Given the description of an element on the screen output the (x, y) to click on. 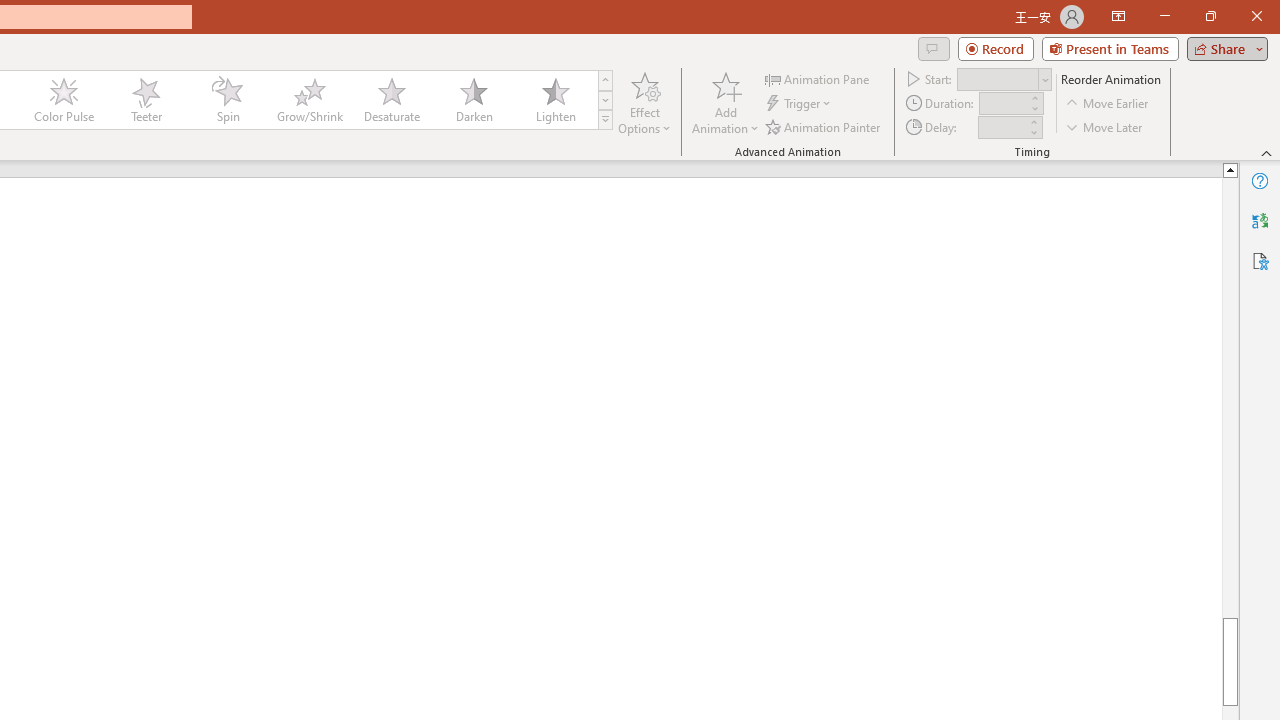
Animation Painter (824, 126)
Move Earlier (1107, 103)
Animation Duration (1003, 103)
Spin (227, 100)
Desaturate (391, 100)
Less (1033, 132)
Lighten (555, 100)
Grow/Shrink (309, 100)
